Given the description of an element on the screen output the (x, y) to click on. 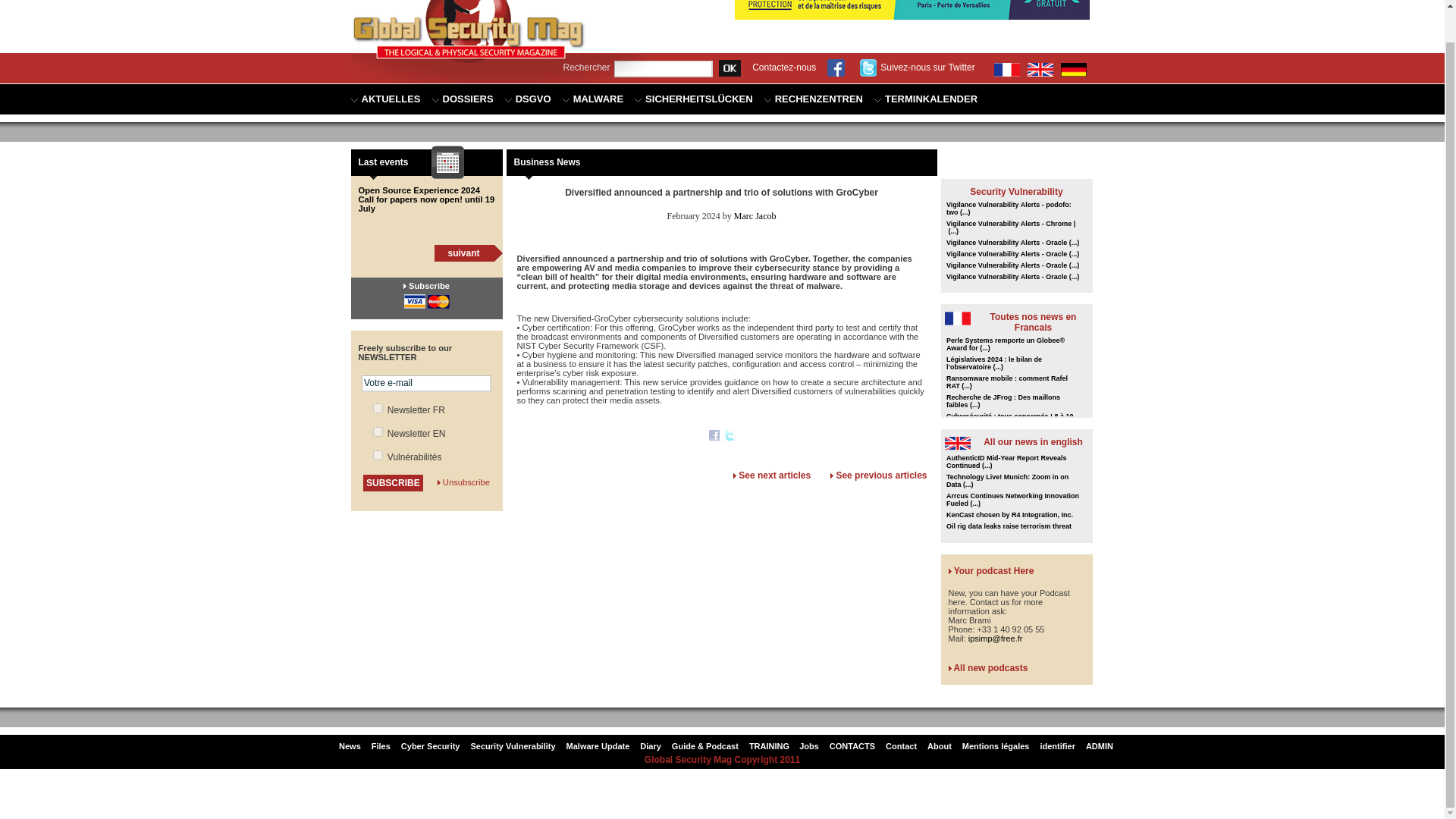
Suivez-nous sur Twitter (927, 67)
SUBSCRIBE (392, 483)
See previous articles (880, 475)
suivant (462, 252)
Marc Jacob (754, 215)
DSGVO (528, 99)
TERMINKALENDER (925, 99)
signup (377, 455)
Twitter (729, 436)
Unsubscribe (465, 481)
MALWARE (592, 99)
signup (377, 430)
Votre e-mail (426, 382)
Security Vulnerability (1015, 191)
See next articles (774, 475)
